Given the description of an element on the screen output the (x, y) to click on. 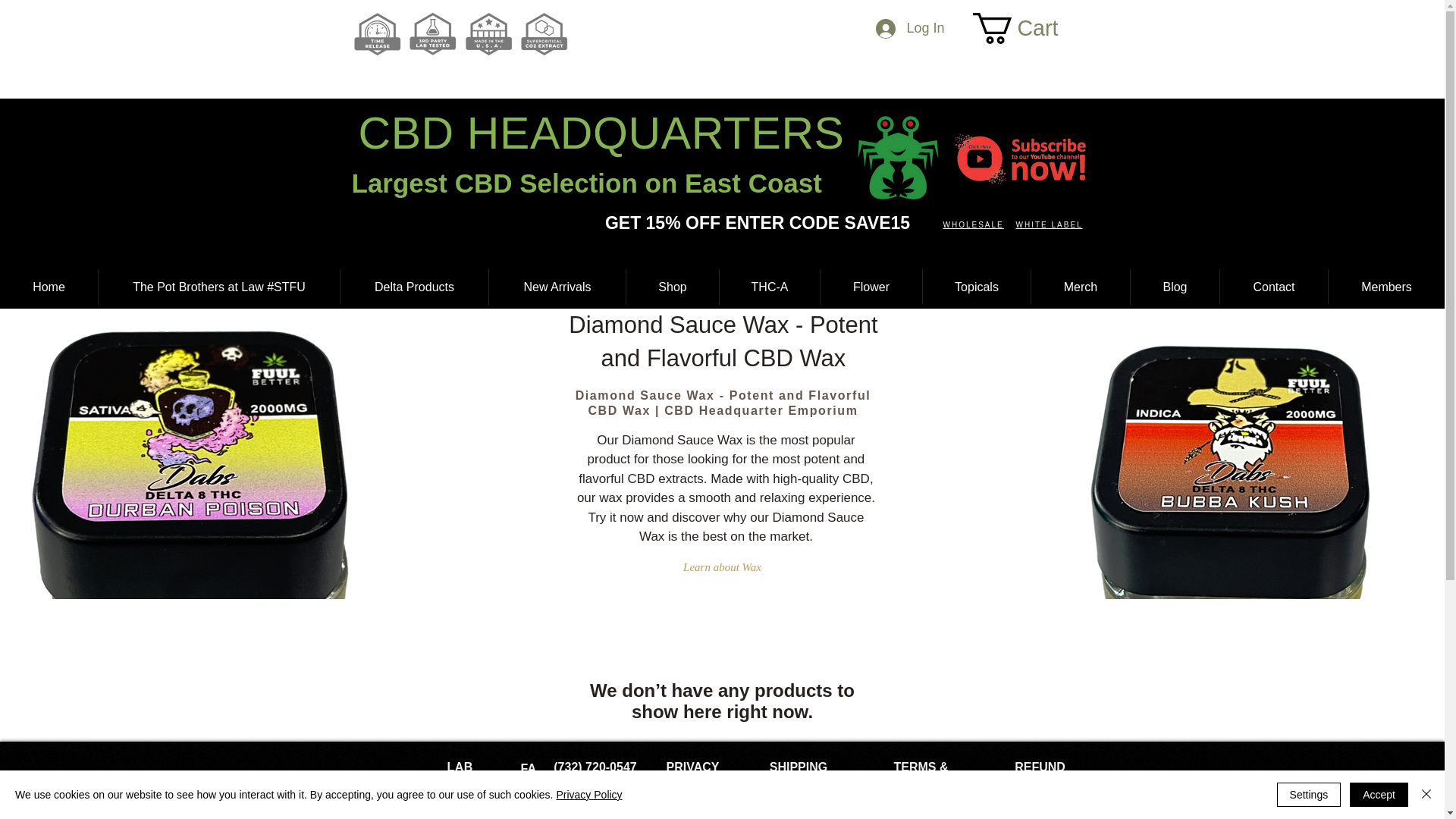
THC-A (769, 286)
SHIPPING POLICY (798, 773)
Contact (1273, 286)
Home (48, 286)
WHOLESALE (973, 224)
Blog (1175, 286)
Cart (1030, 28)
Delta Products (413, 286)
Shop (672, 286)
Learn about Wax (722, 567)
